Given the description of an element on the screen output the (x, y) to click on. 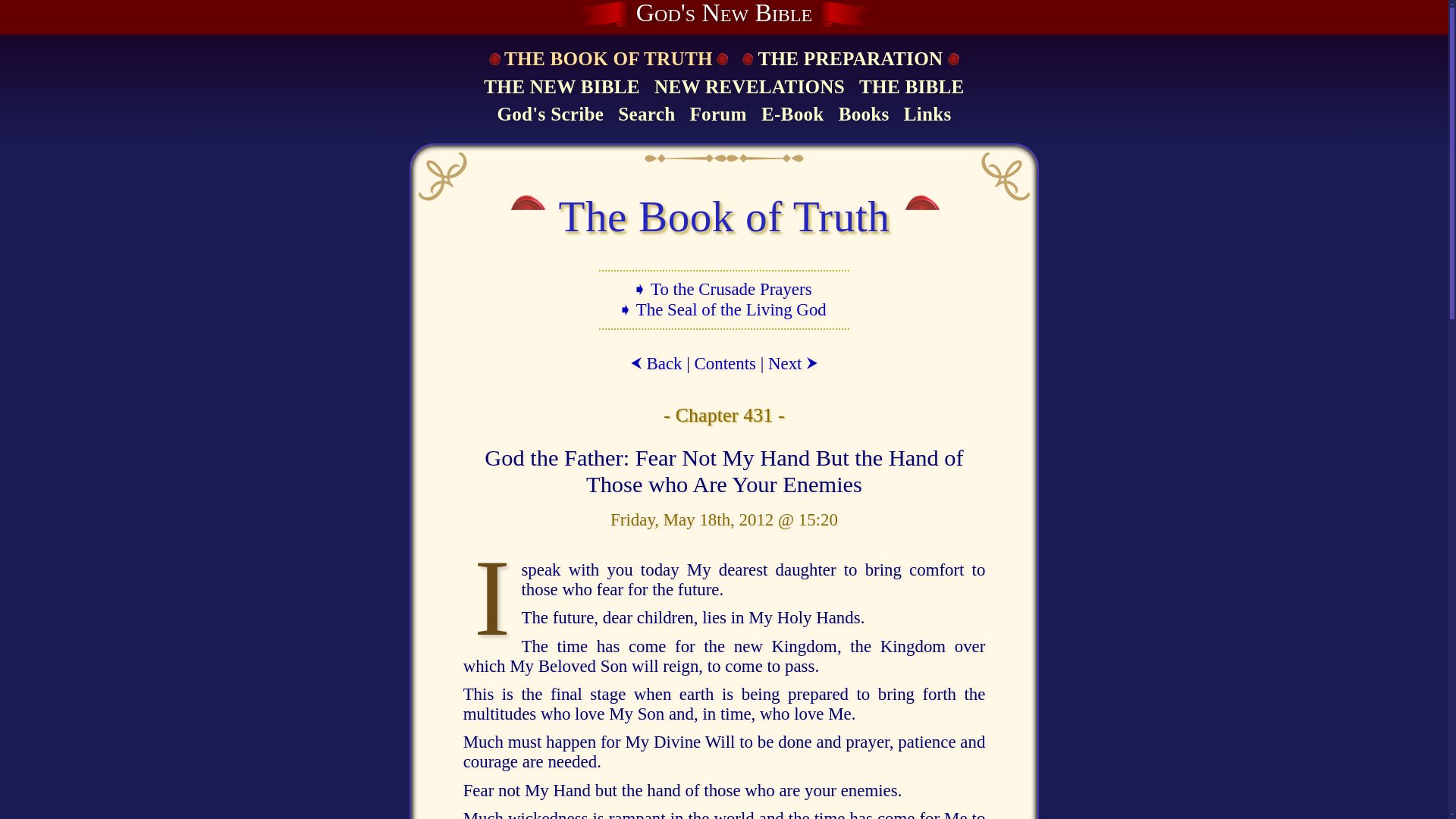
Books (863, 114)
Contents (724, 363)
God's Scribe (550, 114)
Search (646, 114)
THE BIBLE (912, 87)
THE BOOK OF TRUTH (607, 59)
E-Book (792, 114)
Links (927, 114)
Forum (717, 114)
NEW REVELATIONS (749, 87)
